Given the description of an element on the screen output the (x, y) to click on. 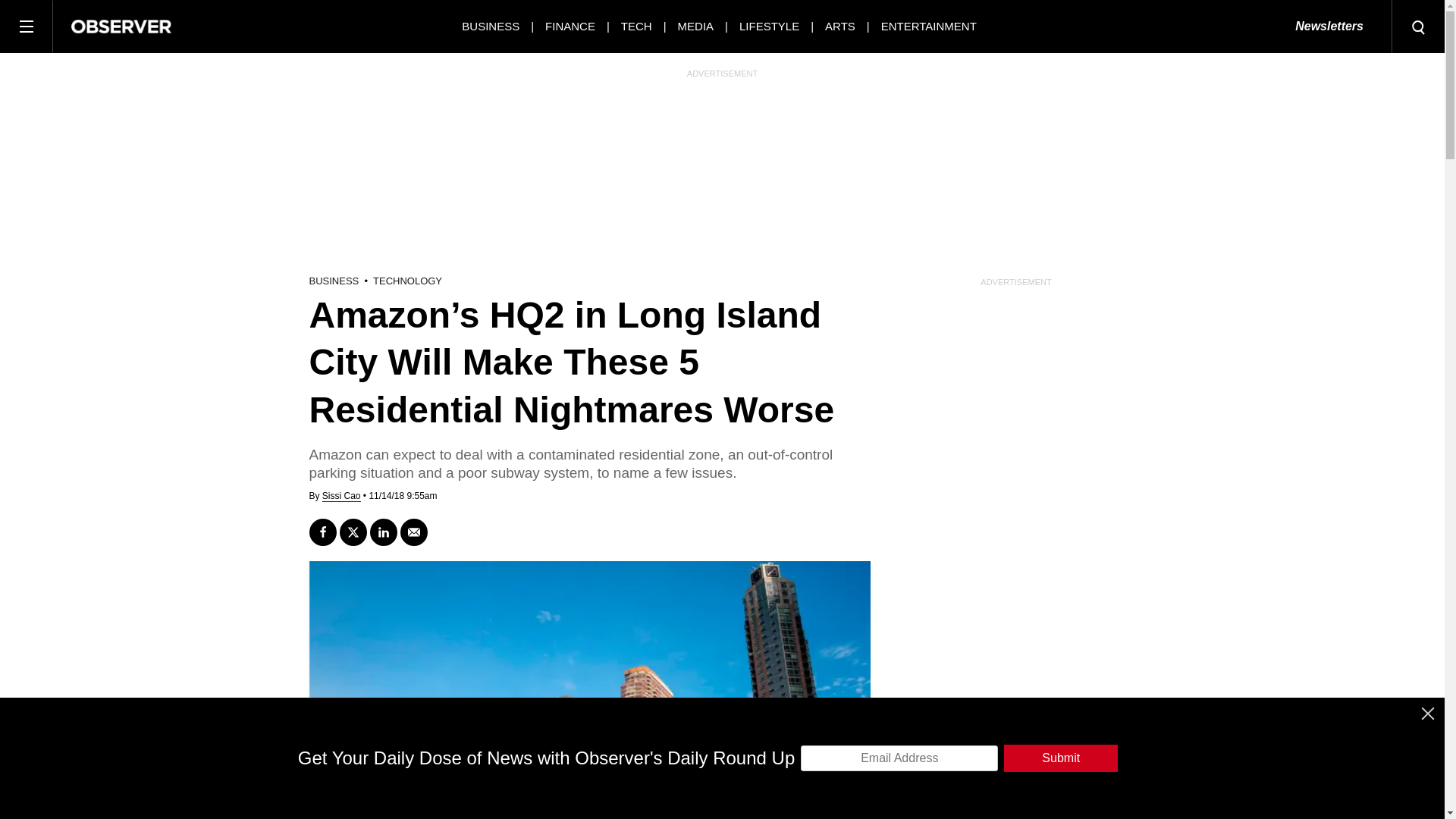
Share on LinkedIn (383, 532)
TECH (636, 25)
Send email (414, 532)
LIFESTYLE (769, 25)
Tweet (352, 532)
MEDIA (696, 25)
Observer (121, 26)
View All Posts by Sissi Cao (341, 496)
Share on Facebook (322, 532)
FINANCE (569, 25)
ENTERTAINMENT (928, 25)
Newsletters (1329, 26)
BUSINESS (490, 25)
ARTS (840, 25)
